Given the description of an element on the screen output the (x, y) to click on. 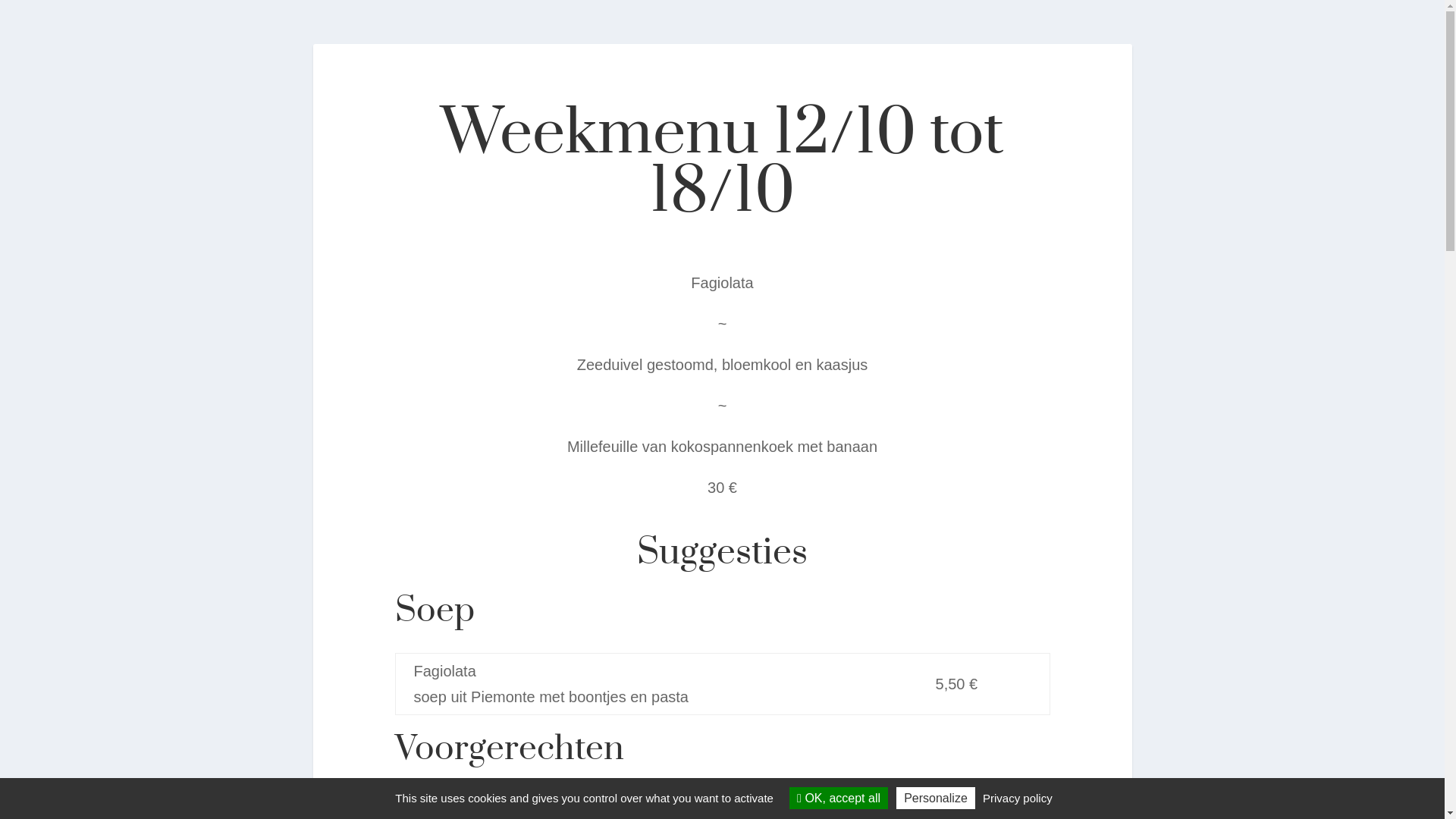
Personalize Element type: text (935, 798)
Privacy policy Element type: text (1017, 797)
OK, accept all Element type: text (838, 798)
